Given the description of an element on the screen output the (x, y) to click on. 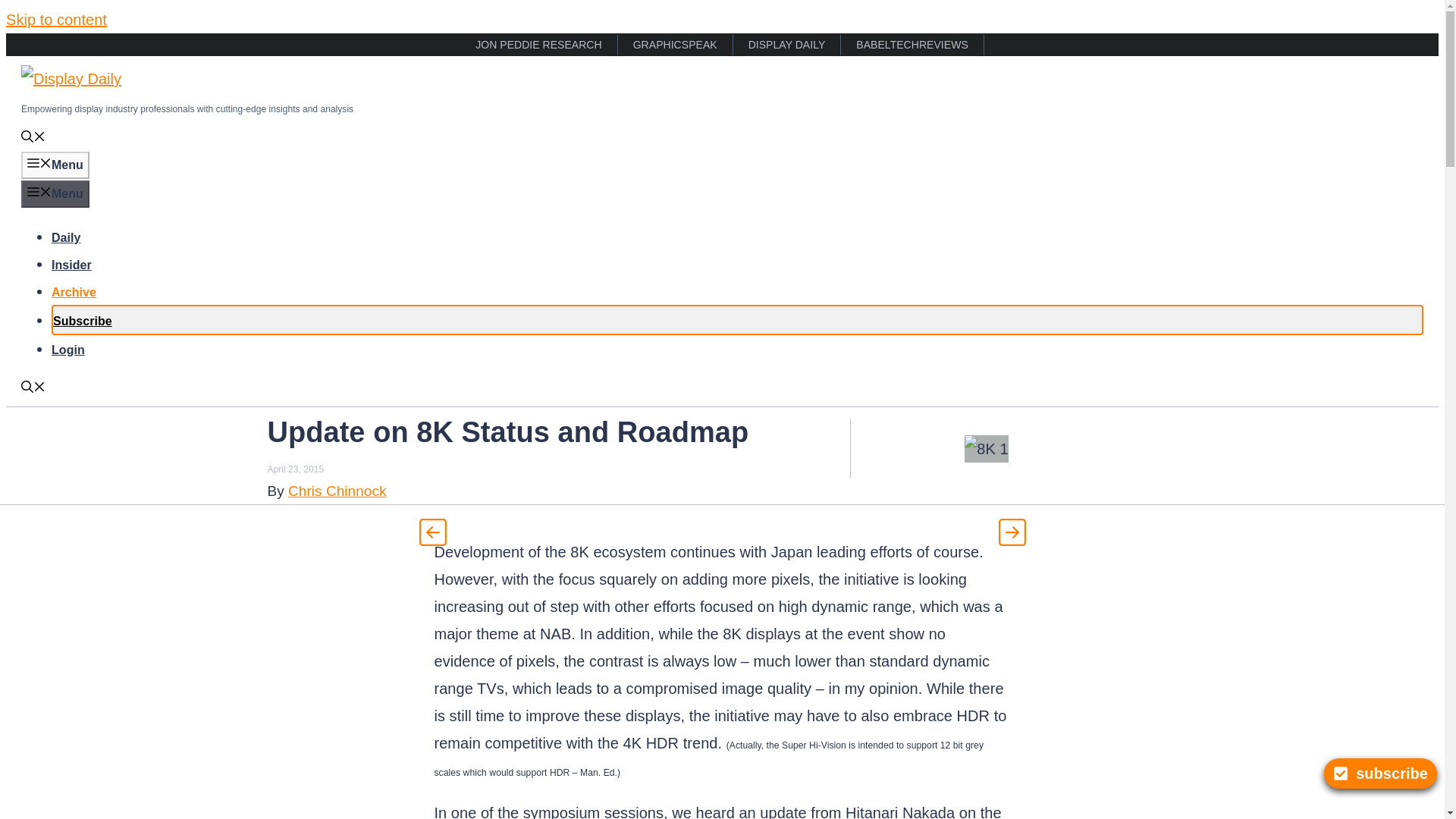
Archive (73, 291)
DISPLAY DAILY (787, 45)
Insider (70, 264)
Skip to content (55, 19)
Skip to content (55, 19)
GRAPHICSPEAK (675, 45)
Subscribe (82, 320)
subscribe (1380, 773)
Login (67, 349)
JON PEDDIE RESEARCH (538, 45)
subscribe (1380, 773)
Menu (54, 194)
BABELTECHREVIEWS (912, 45)
Chris Chinnock (336, 489)
Menu (54, 165)
